Given the description of an element on the screen output the (x, y) to click on. 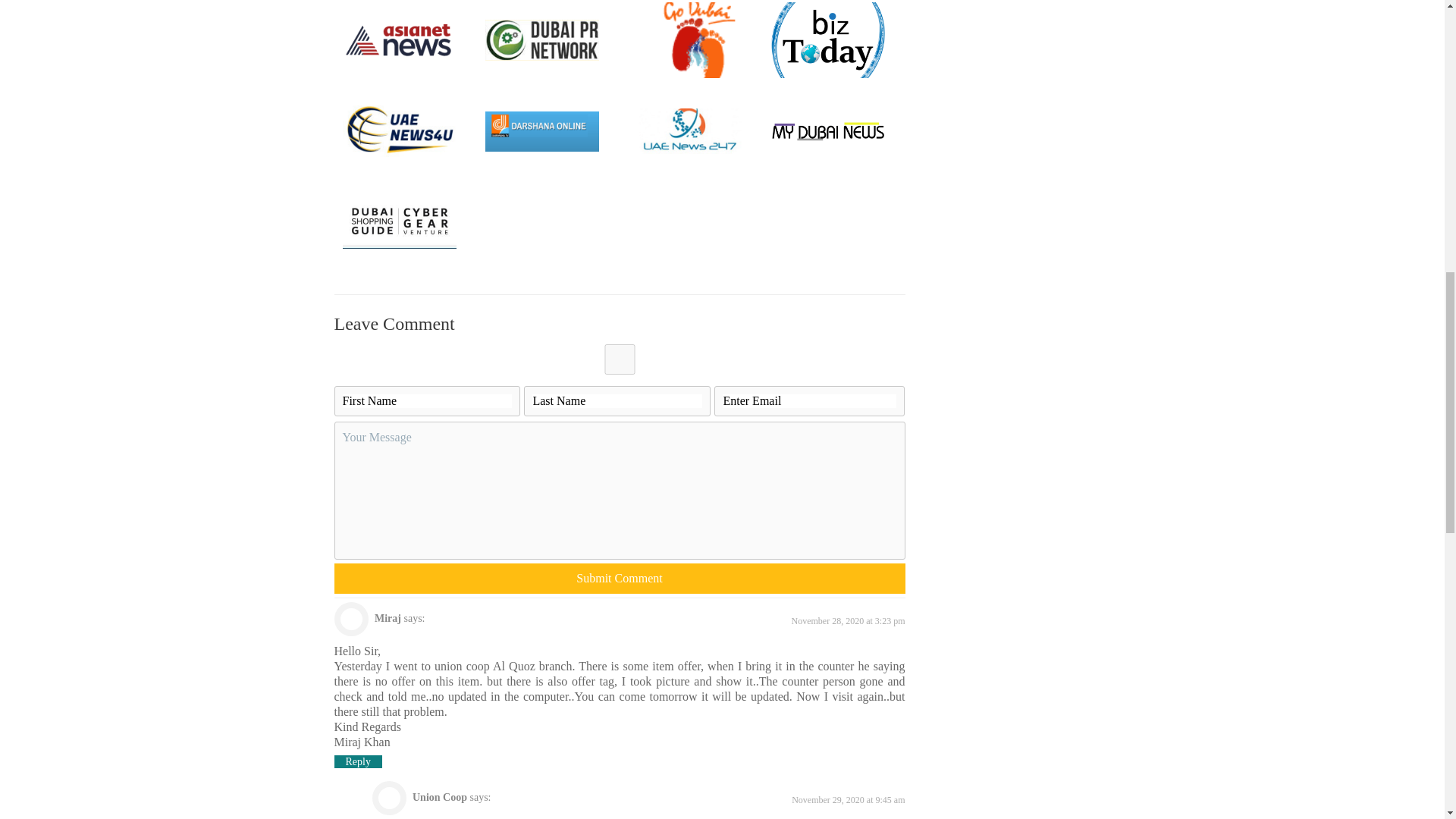
Submit Comment (618, 578)
Please wait until Google reCAPTCHA is loaded. (618, 578)
Reply (357, 761)
yes (618, 358)
November 29, 2020 at 9:45 am (848, 799)
November 28, 2020 at 3:23 pm (848, 620)
Submit Comment (618, 578)
